Given the description of an element on the screen output the (x, y) to click on. 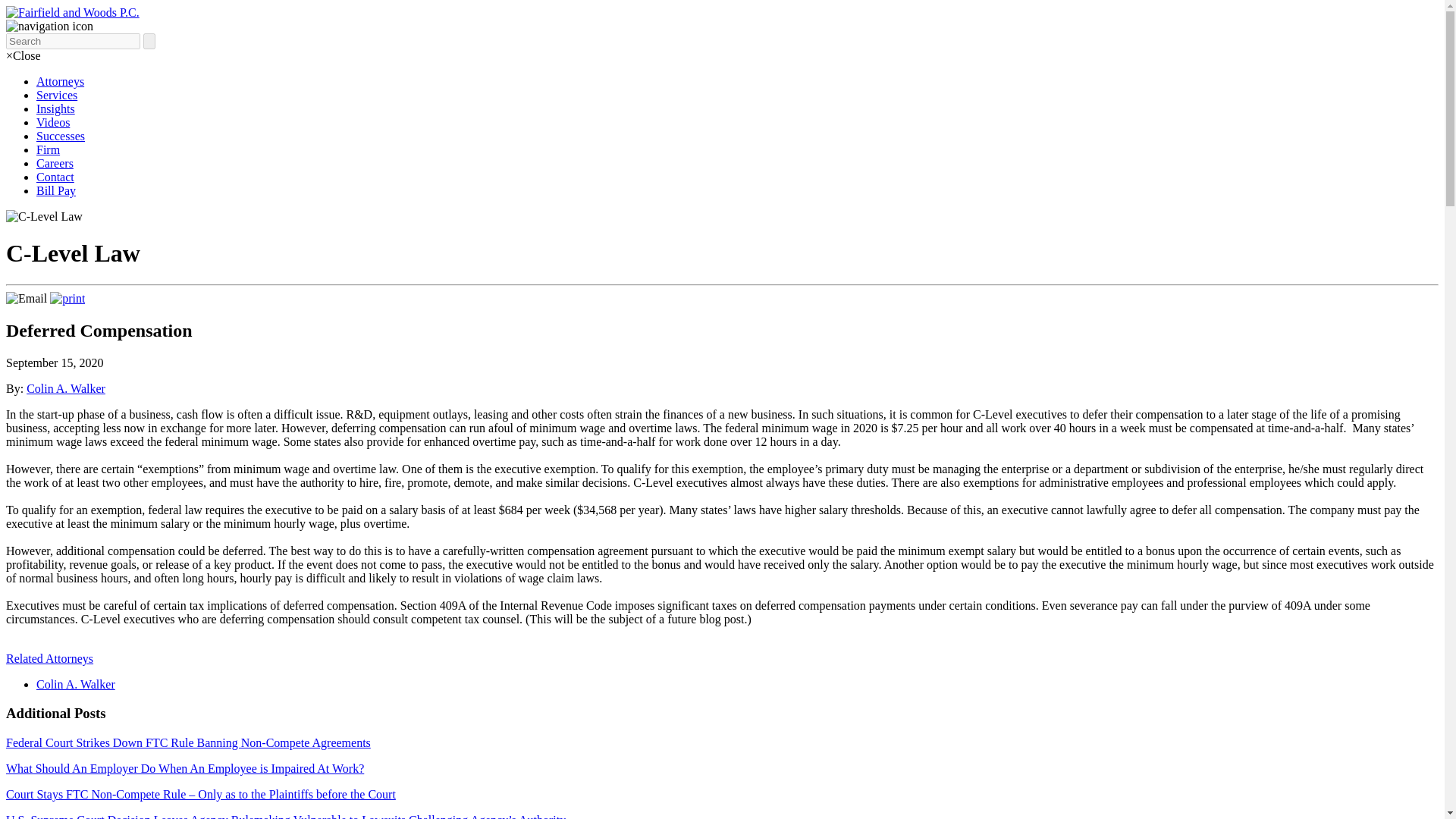
Attorneys (60, 81)
Related Attorneys (49, 658)
Bill Pay (55, 190)
Services (56, 94)
Colin A. Walker (65, 388)
Videos (52, 122)
Firm (47, 149)
Careers (55, 163)
Videos (52, 122)
